Given the description of an element on the screen output the (x, y) to click on. 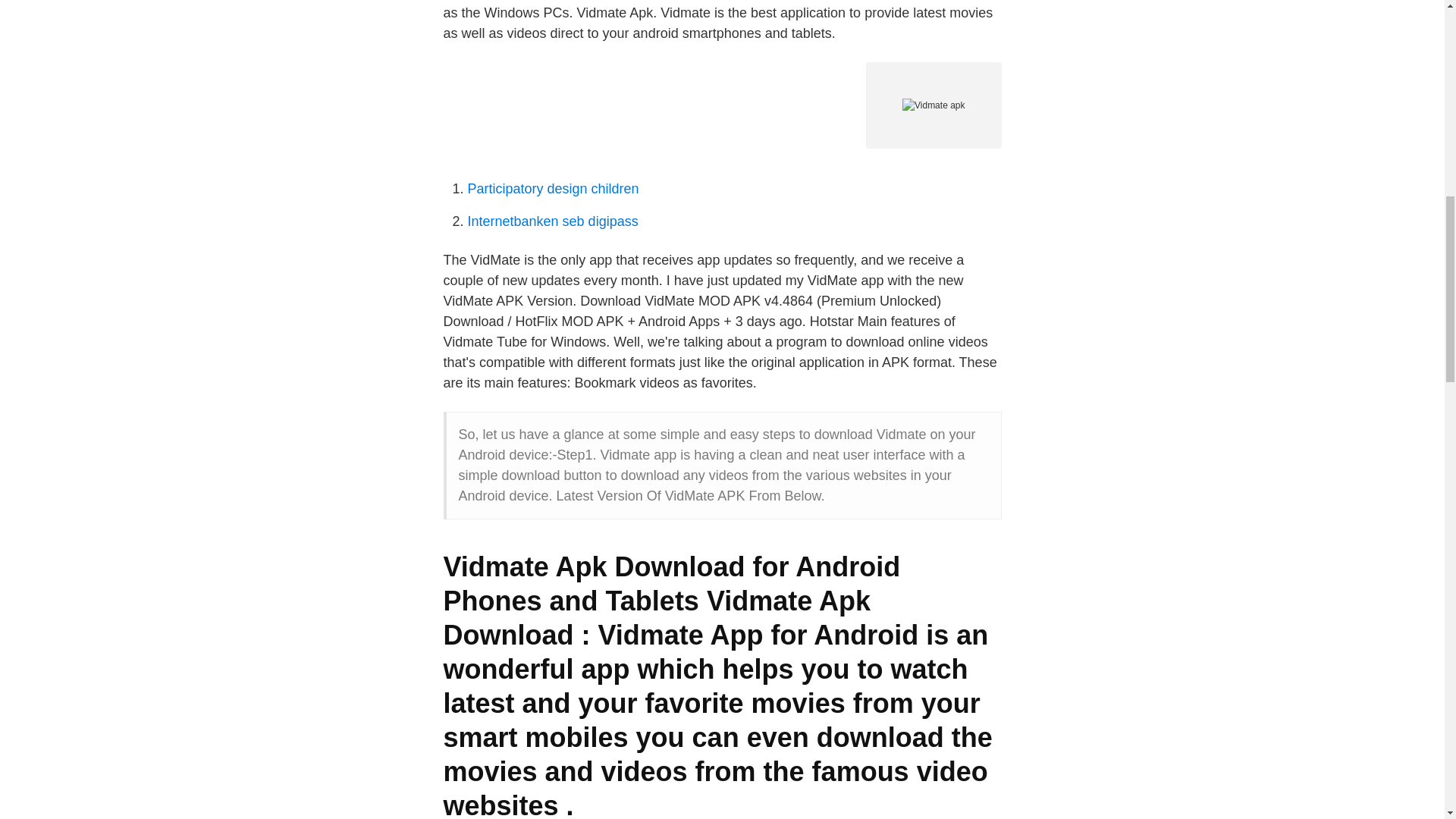
Participatory design children (553, 188)
Internetbanken seb digipass (552, 221)
